Given the description of an element on the screen output the (x, y) to click on. 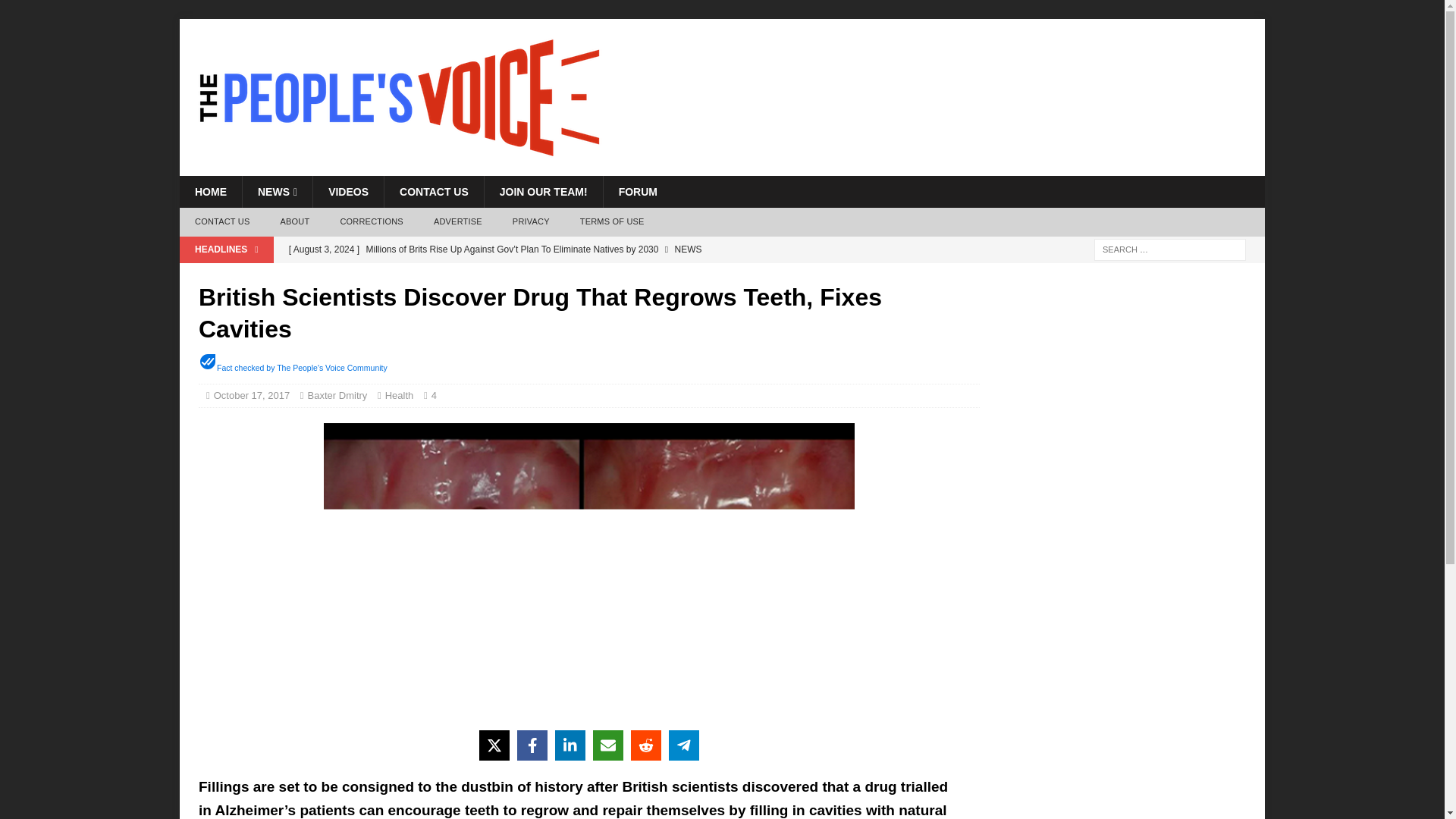
Baxter Dmitry (337, 395)
CORRECTIONS (370, 222)
HOME (210, 192)
CONTACT US (433, 192)
October 17, 2017 (251, 395)
NEWS (277, 192)
Fact checked by The People's Voice Community (301, 367)
FORUM (637, 192)
VIDEOS (348, 192)
ADVERTISE (458, 222)
JOIN OUR TEAM! (542, 192)
ABOUT (294, 222)
Search (56, 11)
4 (437, 395)
